Given the description of an element on the screen output the (x, y) to click on. 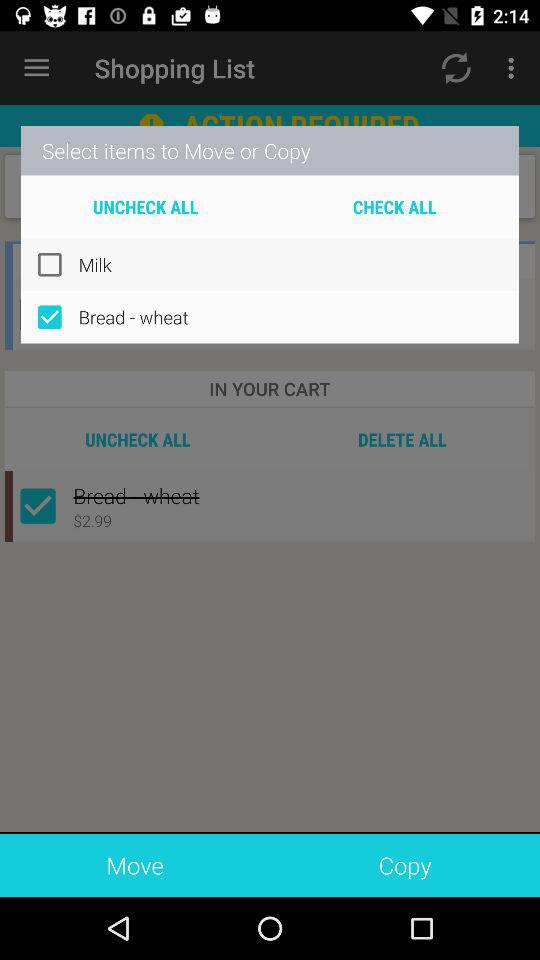
turn on item next to check all (145, 206)
